Given the description of an element on the screen output the (x, y) to click on. 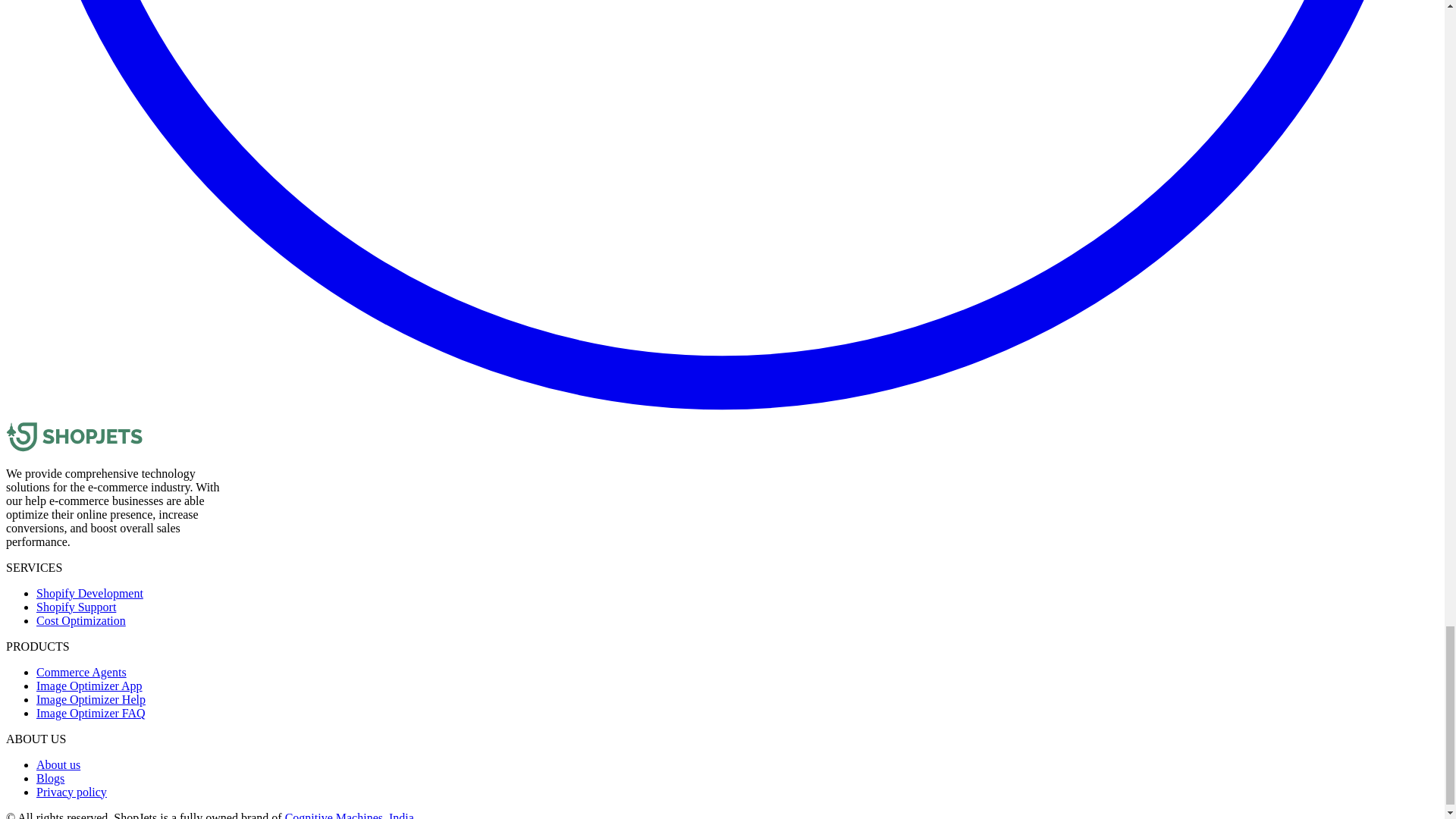
Cost Optimization (80, 620)
Image Optimizer Help (90, 698)
About us (58, 764)
Image Optimizer App (89, 685)
Commerce Agents (81, 671)
Shopify Development (89, 593)
Blogs (50, 778)
Image Optimizer FAQ (90, 712)
Privacy policy (71, 791)
Shopify Support (76, 606)
